Given the description of an element on the screen output the (x, y) to click on. 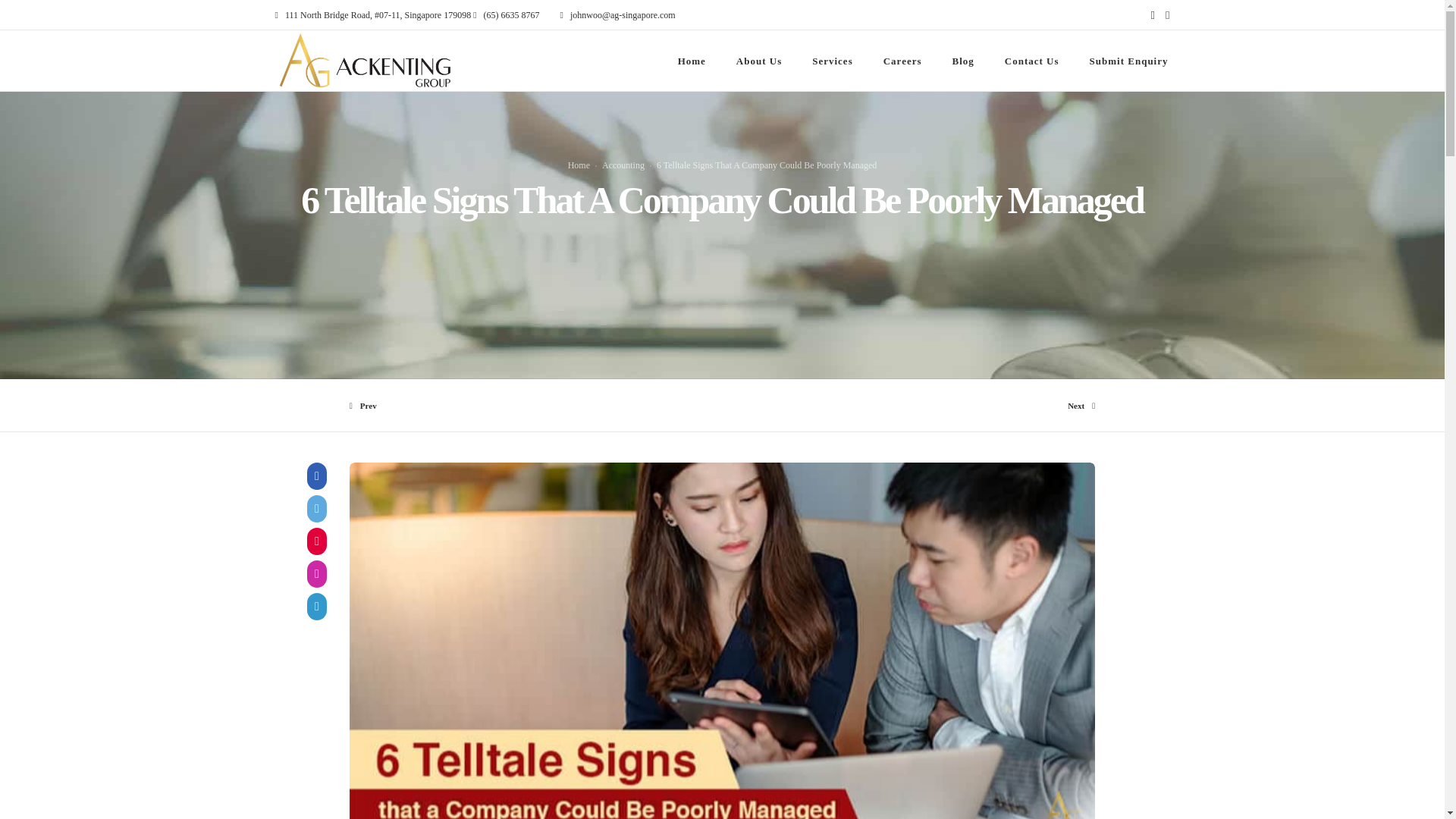
Site logo (364, 60)
Home (578, 164)
Submit Enquiry (1129, 61)
Facebook (1152, 15)
Next (908, 405)
Prev (535, 405)
LinkedIN (1167, 15)
Accounting (623, 164)
Contact Us (1031, 61)
